Given the description of an element on the screen output the (x, y) to click on. 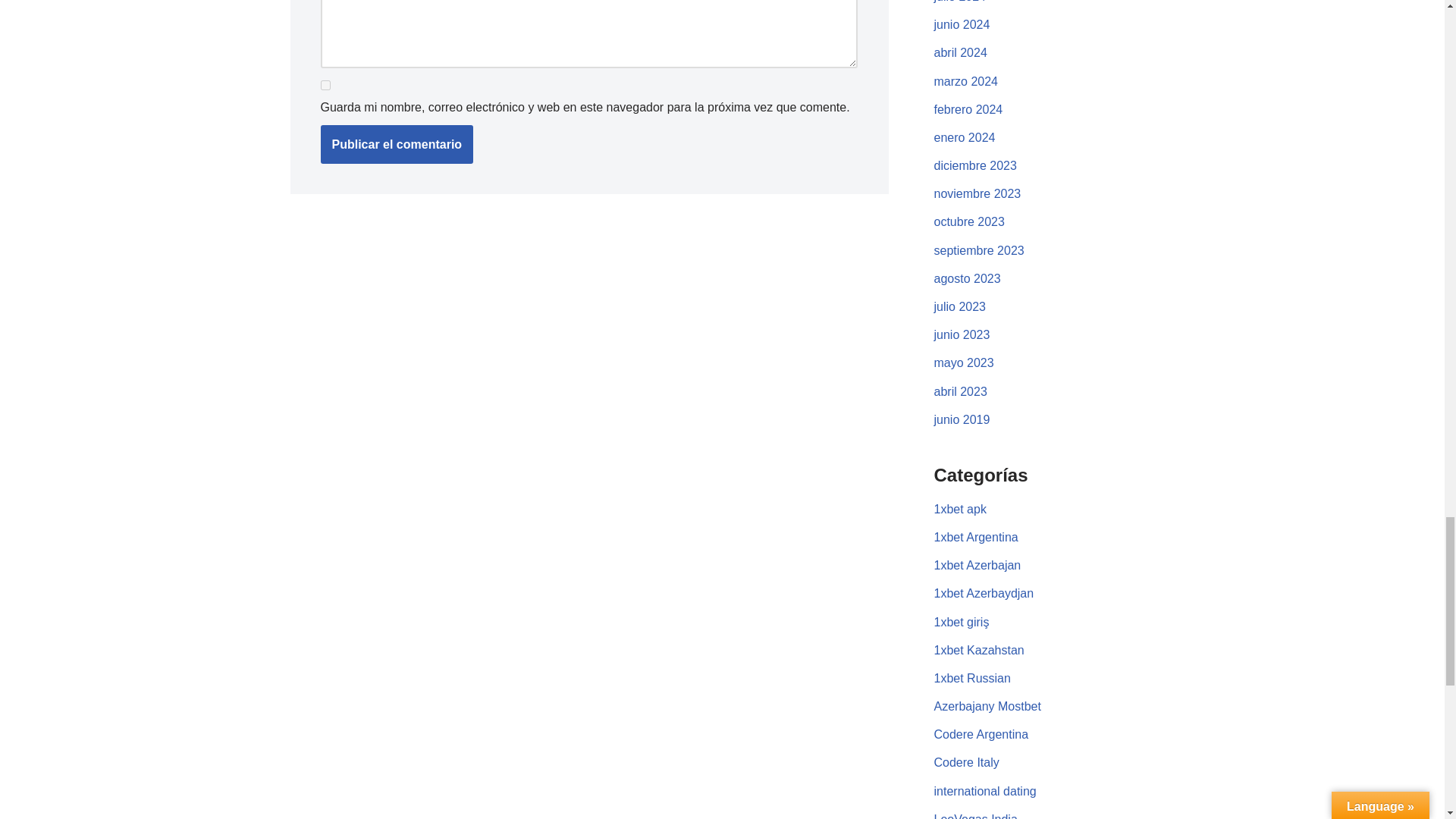
Publicar el comentario (396, 144)
yes (325, 85)
Publicar el comentario (396, 144)
